Given the description of an element on the screen output the (x, y) to click on. 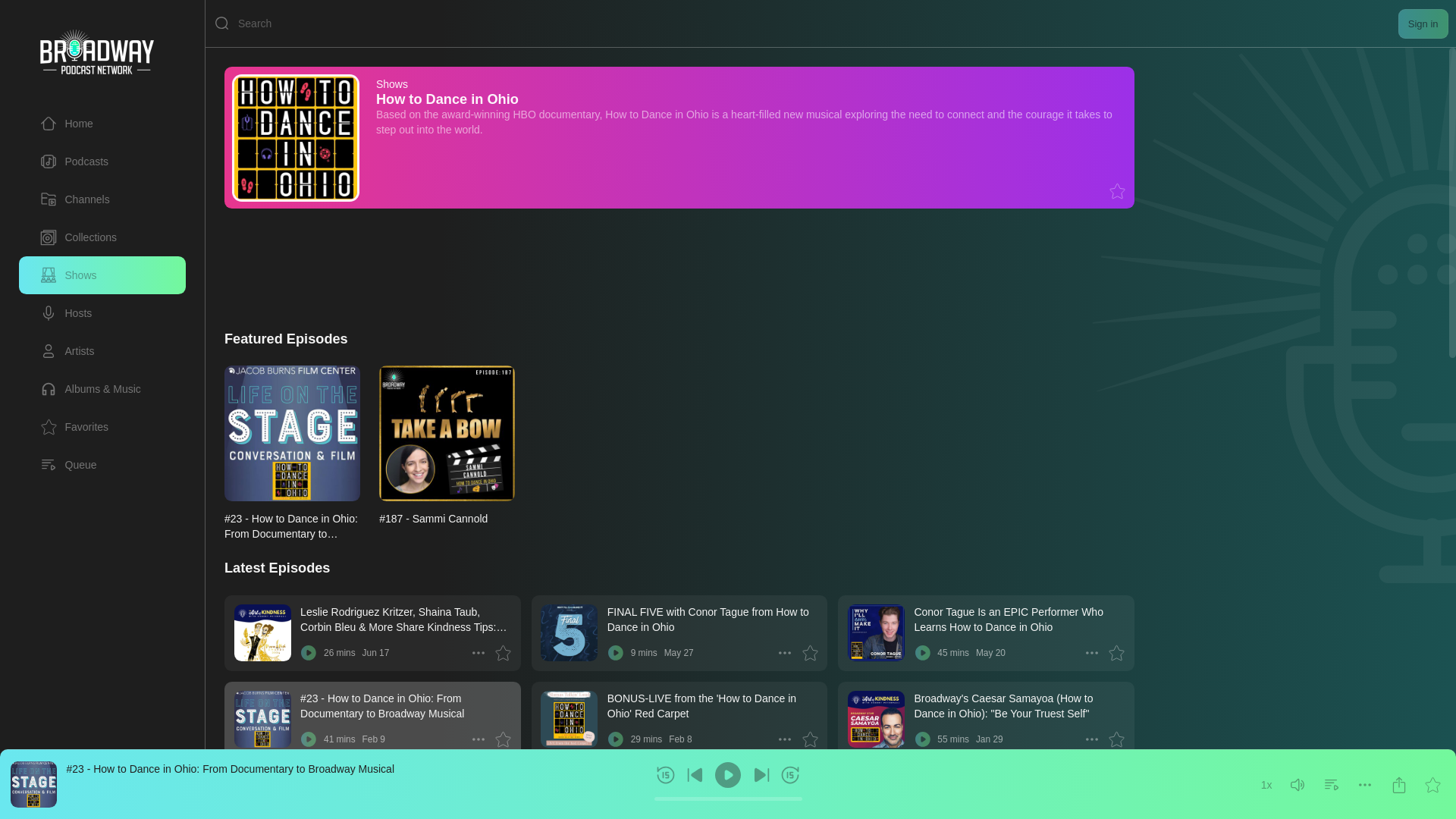
Collections (78, 237)
Hosts (102, 313)
Queue (68, 464)
Channels (102, 199)
Podcasts (73, 161)
Sign in (1422, 23)
Channels (75, 199)
Artists (102, 351)
Shows (102, 275)
Shows (68, 274)
Artists (67, 351)
Home (102, 123)
Favorites (102, 426)
Queue (102, 464)
Shows (391, 82)
